Given the description of an element on the screen output the (x, y) to click on. 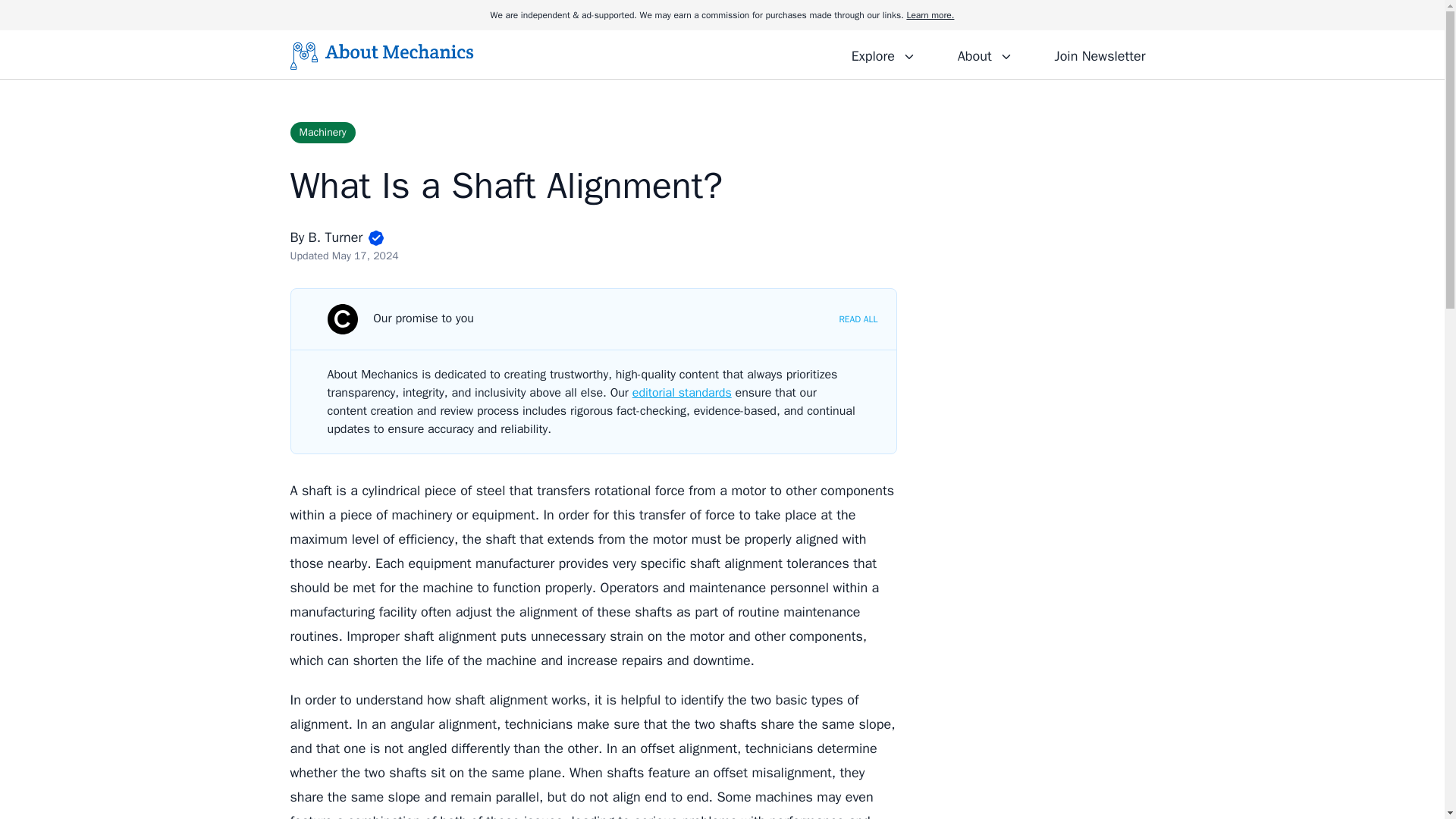
Learn more. (929, 15)
About (984, 54)
READ ALL (857, 318)
Explore (883, 54)
Join Newsletter (1099, 54)
Machinery (322, 132)
editorial standards (681, 393)
